Given the description of an element on the screen output the (x, y) to click on. 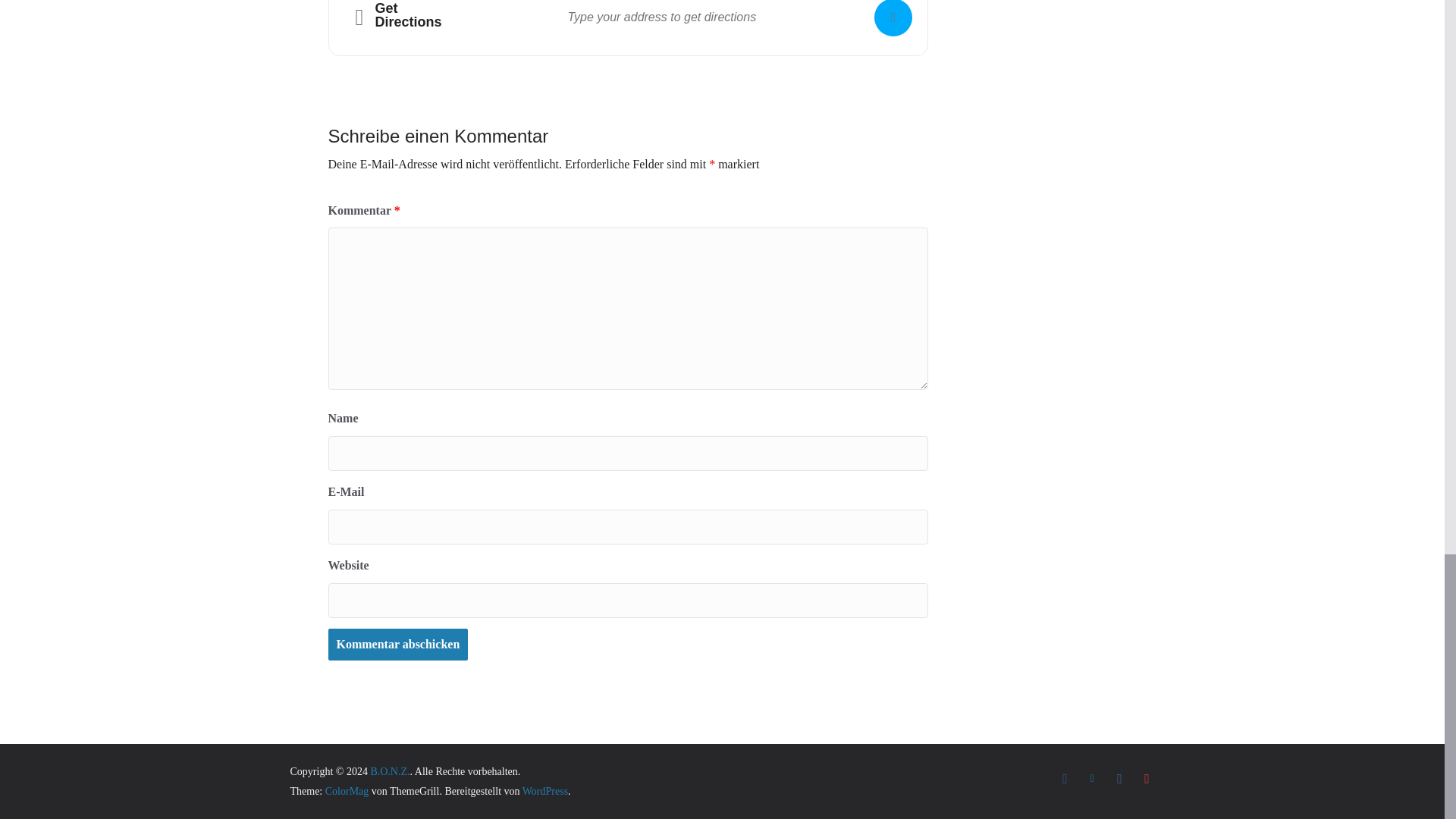
Click here to get directions (893, 18)
ColorMag (346, 790)
WordPress (544, 790)
WordPress (544, 790)
B.O.N.Z. (389, 771)
Kommentar abschicken (397, 644)
ColorMag (346, 790)
Kommentar abschicken (397, 644)
B.O.N.Z. (389, 771)
